Given the description of an element on the screen output the (x, y) to click on. 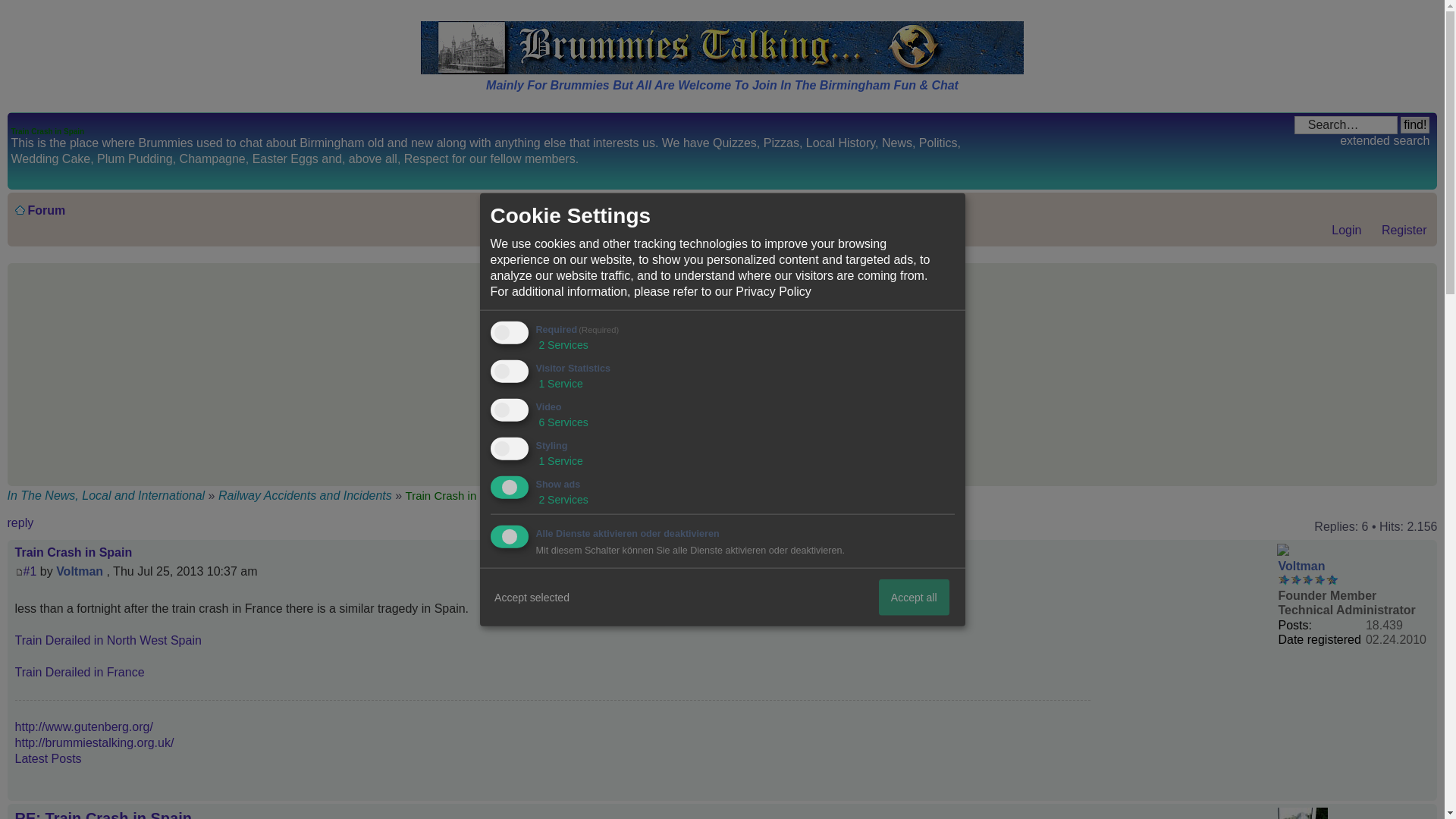
Login (1339, 229)
In The News, Local and International (107, 495)
find! (1414, 125)
RE: Train Crash in Spain (103, 814)
Forum (46, 210)
reply (53, 525)
Voltman (79, 571)
Railway Accidents and Incidents (304, 495)
Search (1345, 125)
Top (1425, 792)
Train Derailed in North West Spain (108, 640)
Top (1425, 792)
reply (53, 525)
extended search (1384, 140)
extended search (1384, 140)
